Given the description of an element on the screen output the (x, y) to click on. 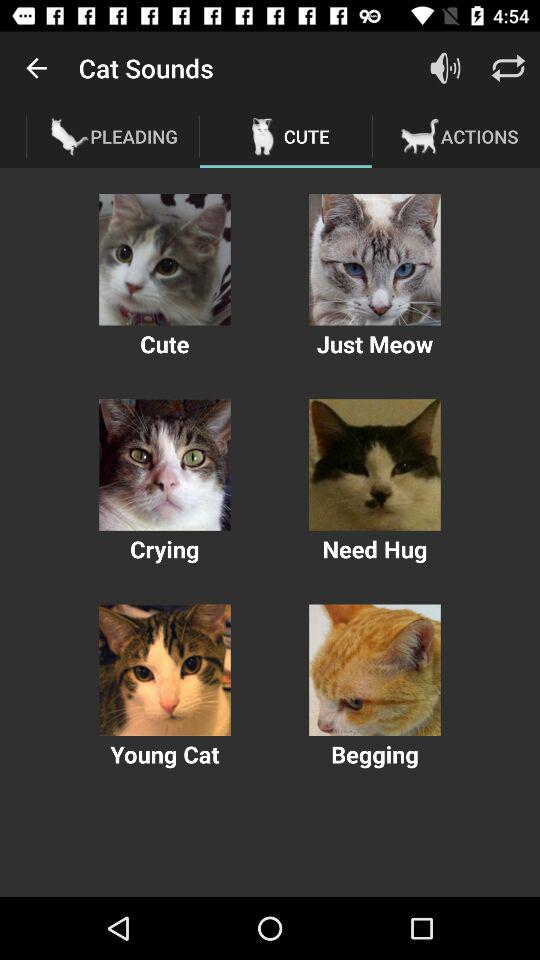
choose app next to the cat sounds item (36, 68)
